Given the description of an element on the screen output the (x, y) to click on. 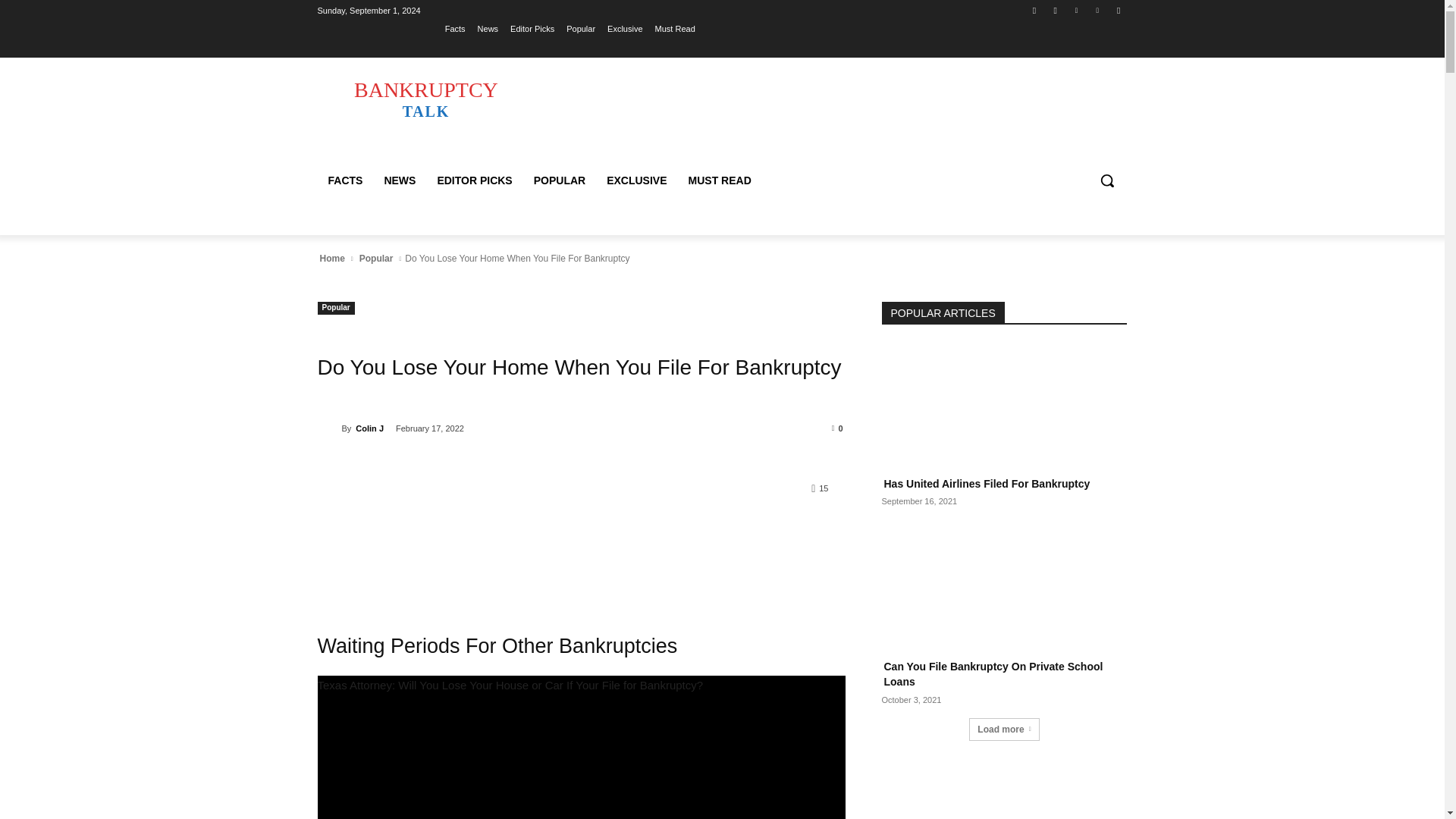
Colin J (328, 427)
POPULAR (558, 180)
News (488, 28)
EDITOR PICKS (474, 180)
Instagram (1055, 9)
EXCLUSIVE (636, 180)
Exclusive (624, 28)
Popular (580, 28)
FACTS (344, 180)
NEWS (399, 180)
